Given the description of an element on the screen output the (x, y) to click on. 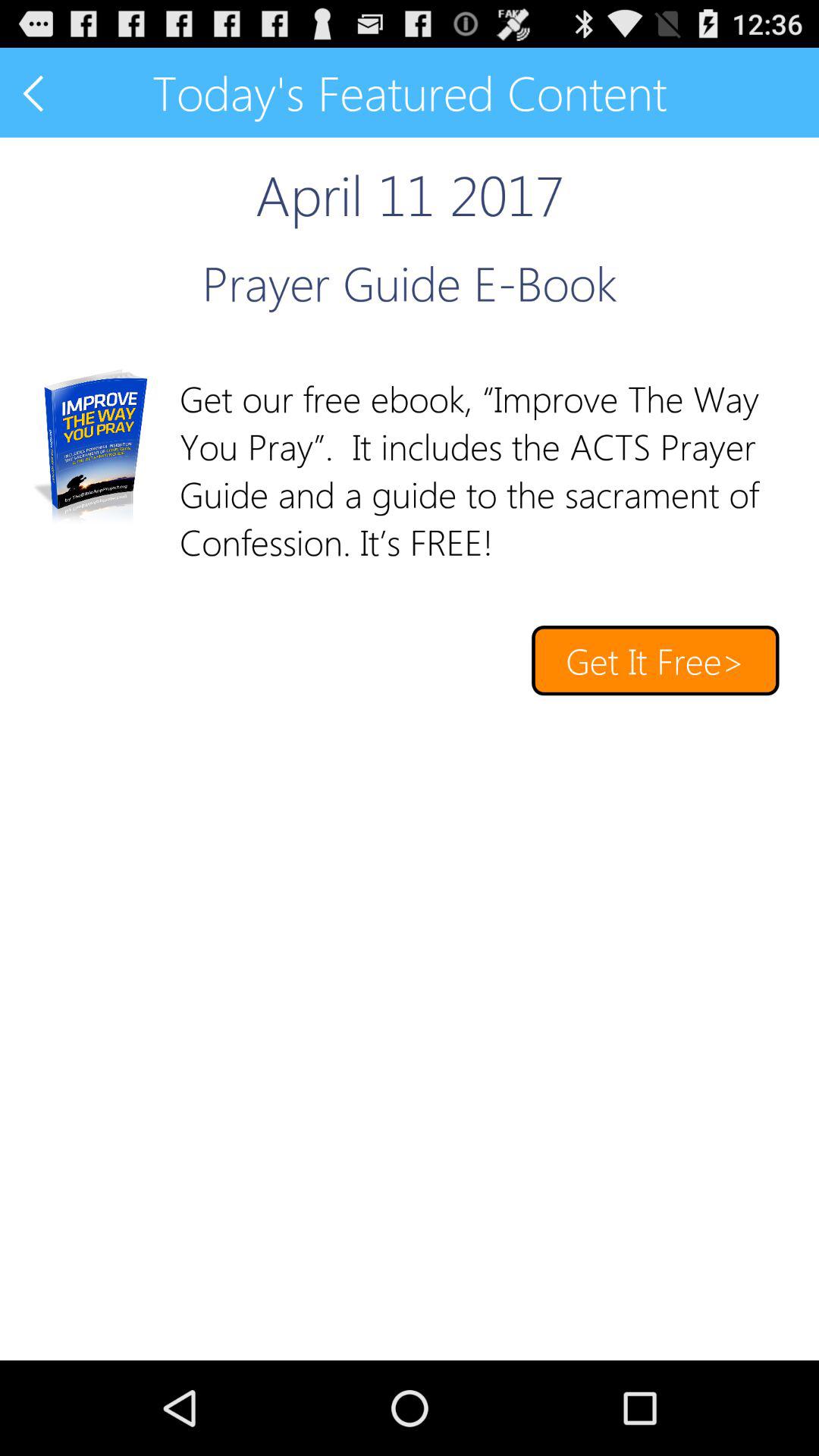
go back (34, 92)
